Given the description of an element on the screen output the (x, y) to click on. 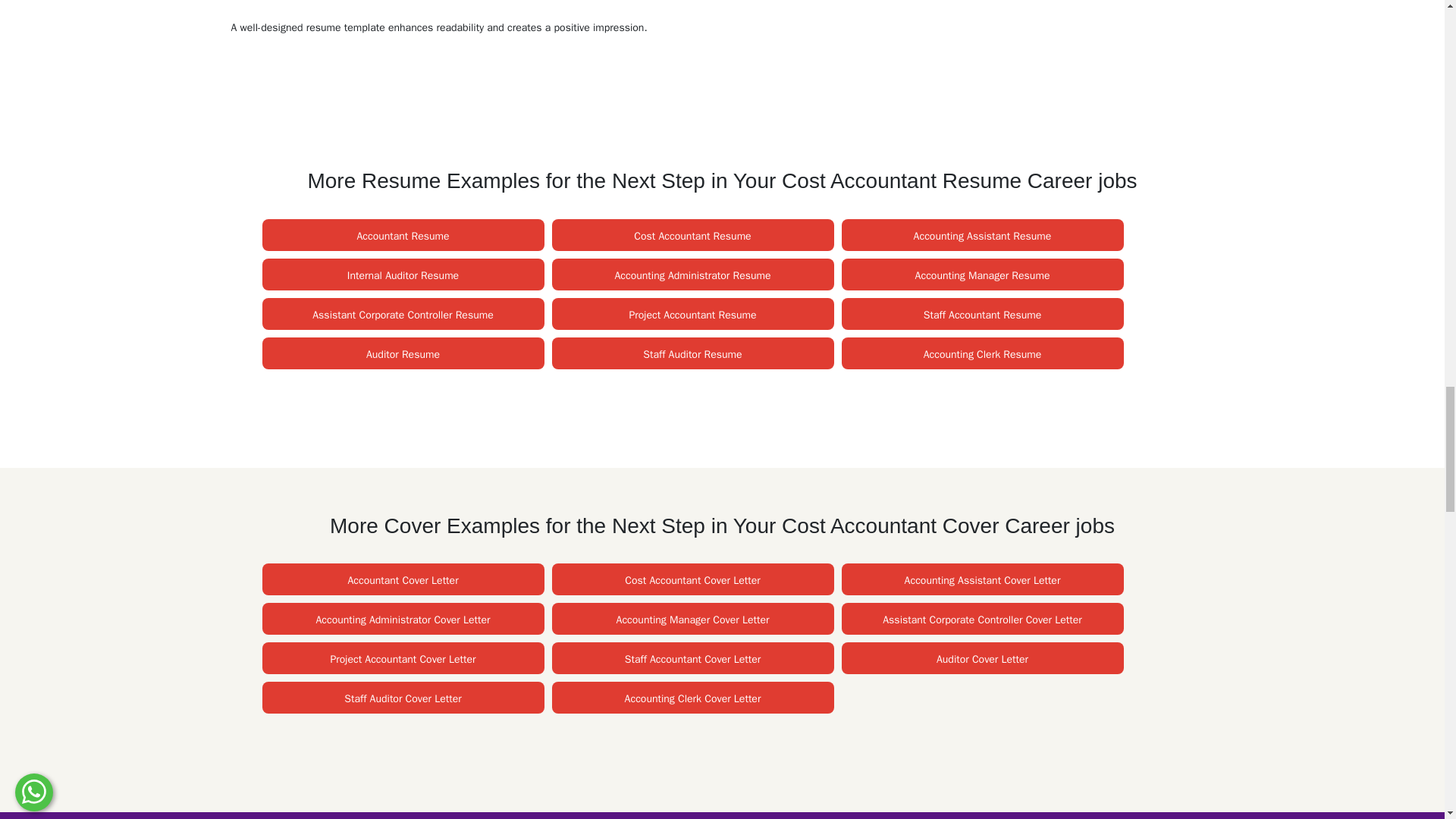
Cost Accountant Cover Letter (692, 580)
Staff Accountant Resume (982, 314)
Accounting Administrator Resume (692, 275)
Project Accountant Resume (691, 314)
Accountant Cover Letter (402, 580)
Cost Accountant Resume (692, 236)
Accounting Assistant Resume (982, 236)
Assistant Corporate Controller Resume (403, 314)
Accounting Assistant Cover Letter (982, 580)
Auditor Resume (402, 354)
Accounting Clerk Resume (982, 354)
Internal Auditor Resume (402, 275)
Staff Auditor Resume (692, 354)
Accounting Administrator Cover Letter (402, 619)
Accountant Resume (402, 236)
